Given the description of an element on the screen output the (x, y) to click on. 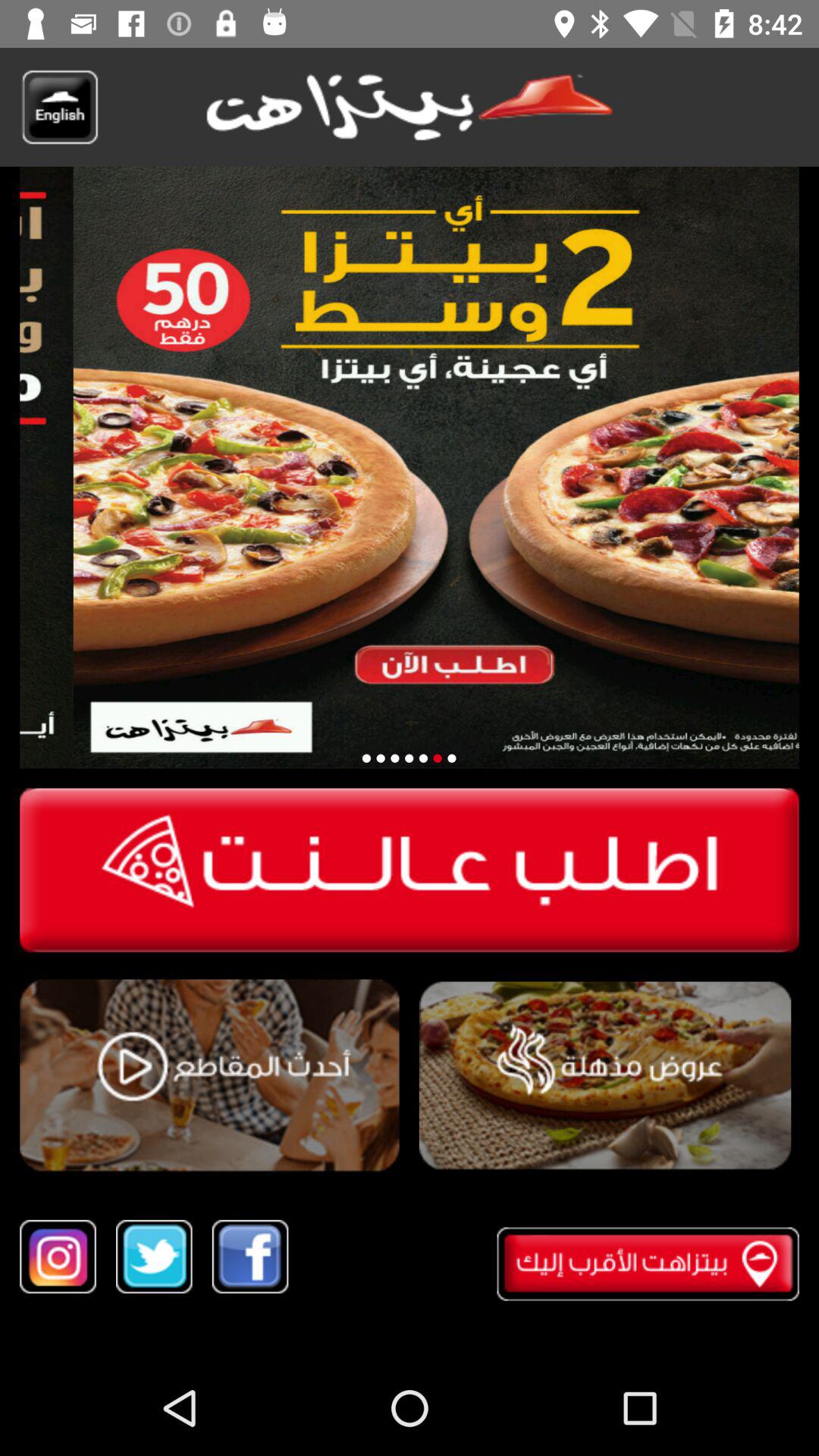
select this option (209, 1075)
